Given the description of an element on the screen output the (x, y) to click on. 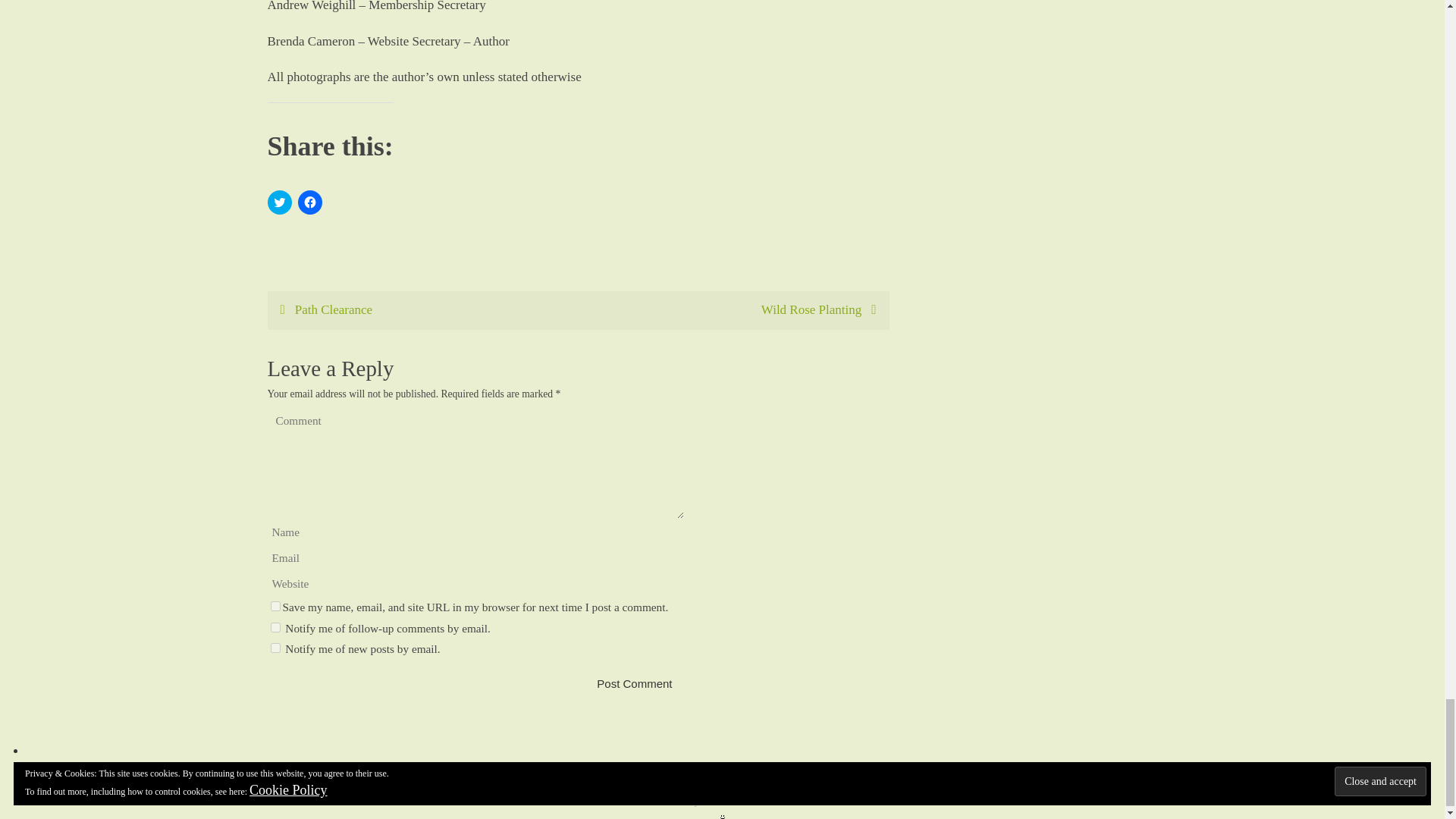
Semantic Personal Publishing Platform (769, 800)
subscribe (274, 647)
Nirvana Theme by Cryout Creations (718, 800)
Click to share on Twitter (278, 202)
subscribe (274, 627)
Post Comment (634, 683)
yes (274, 605)
Click to share on Facebook (309, 202)
